Given the description of an element on the screen output the (x, y) to click on. 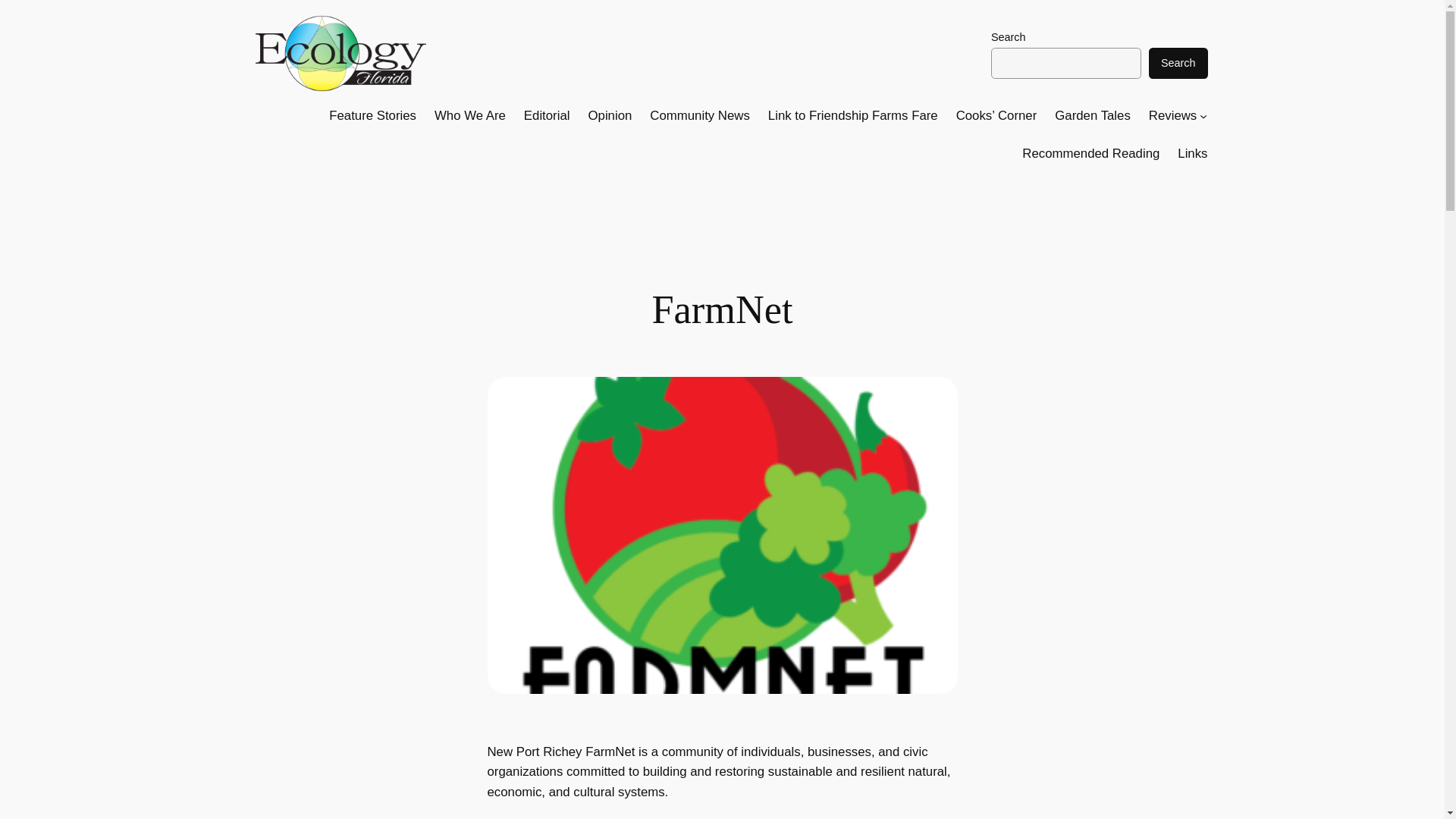
Editorial (547, 116)
Link to Friendship Farms Fare (852, 116)
Reviews (1172, 116)
Opinion (609, 116)
Search (1178, 62)
Recommended Reading (1090, 153)
Feature Stories (372, 116)
Community News (699, 116)
Garden Tales (1092, 116)
Who We Are (469, 116)
Links (1192, 153)
